Given the description of an element on the screen output the (x, y) to click on. 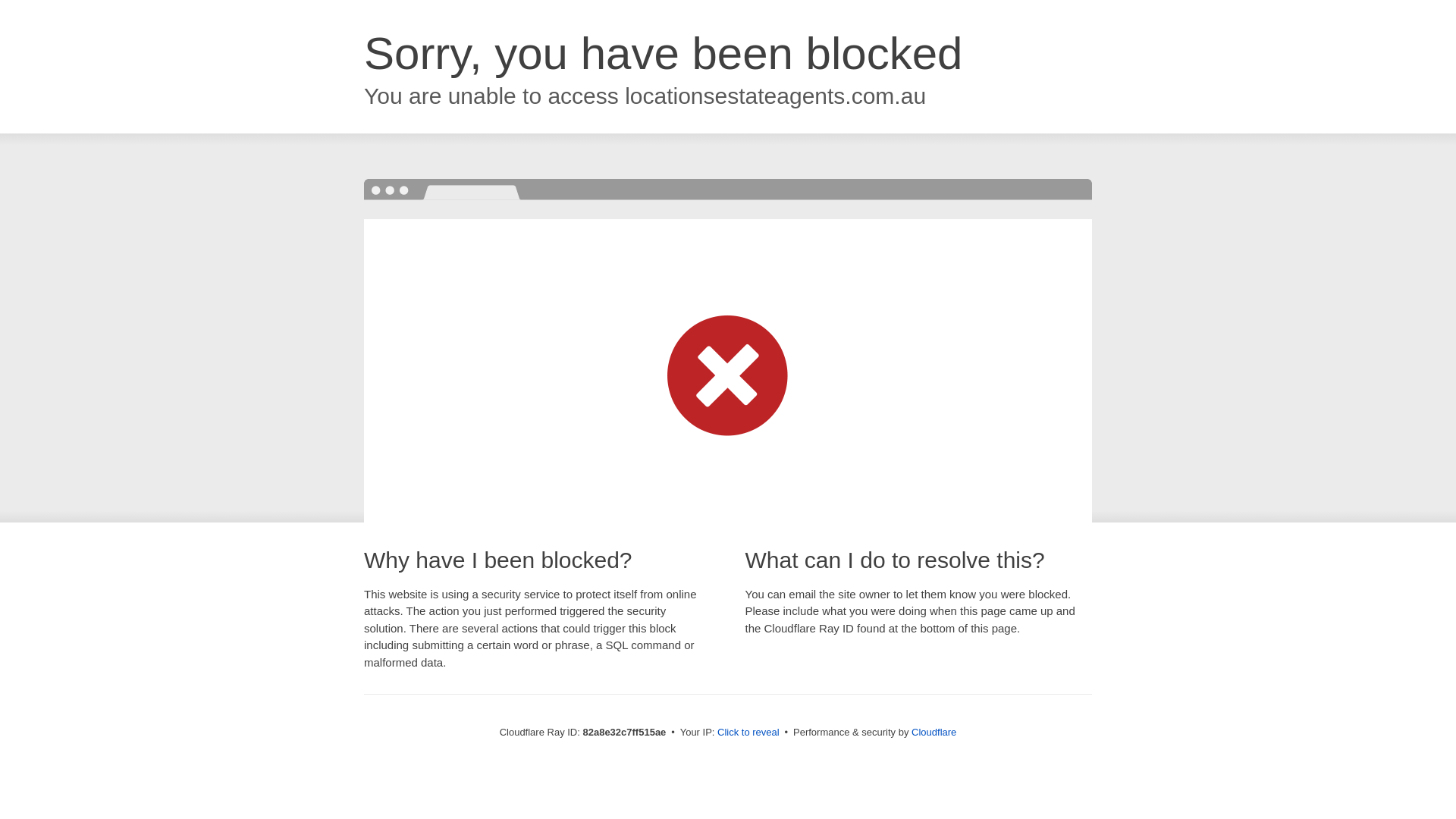
Click to reveal Element type: text (748, 732)
Cloudflare Element type: text (933, 731)
